Given the description of an element on the screen output the (x, y) to click on. 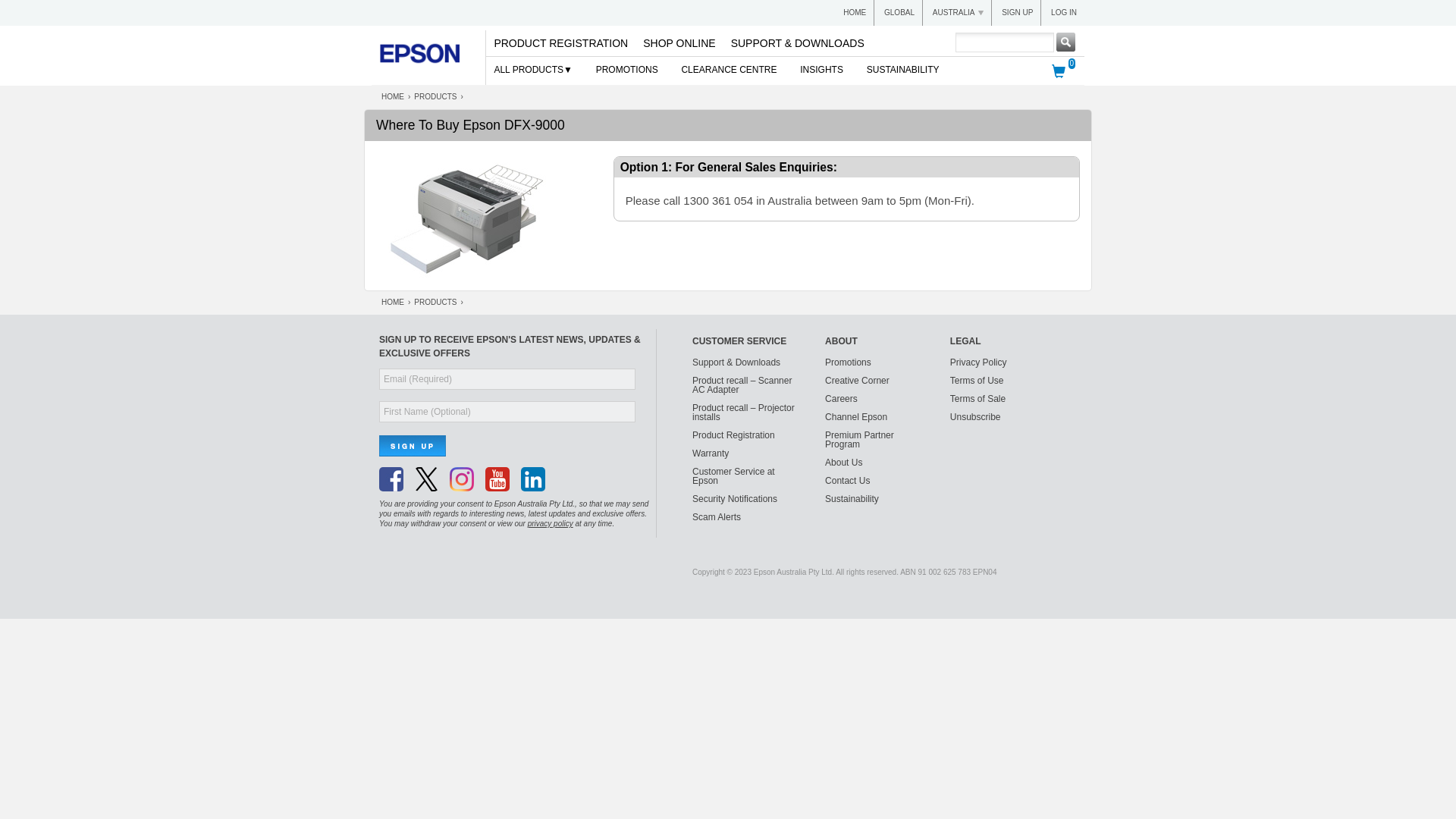
GLOBAL Element type: text (899, 12)
Scam Alerts Element type: text (716, 516)
Sustainability Element type: text (851, 498)
Support & Downloads Element type: text (736, 362)
SHOP ONLINE Element type: text (678, 43)
HOME Element type: text (392, 96)
Promotions Element type: text (848, 362)
Warranty Element type: text (710, 453)
Security Notifications Element type: text (734, 498)
0 Element type: text (1058, 70)
Contact Us Element type: text (847, 480)
PROMOTIONS Element type: text (627, 70)
Privacy Policy Element type: text (978, 362)
Careers Element type: text (841, 398)
Creative Corner Element type: text (857, 380)
HOME Element type: text (854, 12)
HOME Element type: text (392, 302)
PRODUCTS Element type: text (435, 96)
Customer Service at Epson Element type: text (733, 476)
About Us Element type: text (843, 462)
SUSTAINABILITY Element type: text (902, 70)
INSIGHTS Element type: text (821, 70)
Terms of Use Element type: text (977, 380)
PRODUCT REGISTRATION Element type: text (560, 43)
Premium Partner Program Element type: text (859, 439)
Product Registration Element type: text (733, 434)
LOG IN Element type: text (1063, 12)
AUSTRALIA Element type: text (958, 12)
SUPPORT & DOWNLOADS Element type: text (797, 43)
Channel Epson Element type: text (856, 416)
ALL PRODUCTS Element type: text (530, 70)
SIGN UP Element type: text (1016, 12)
privacy policy Element type: text (550, 523)
Terms of Sale Element type: text (977, 398)
Unsubscribe Element type: text (975, 416)
Search Element type: text (1068, 47)
CLEARANCE CENTRE Element type: text (728, 70)
PRODUCTS Element type: text (435, 302)
